Given the description of an element on the screen output the (x, y) to click on. 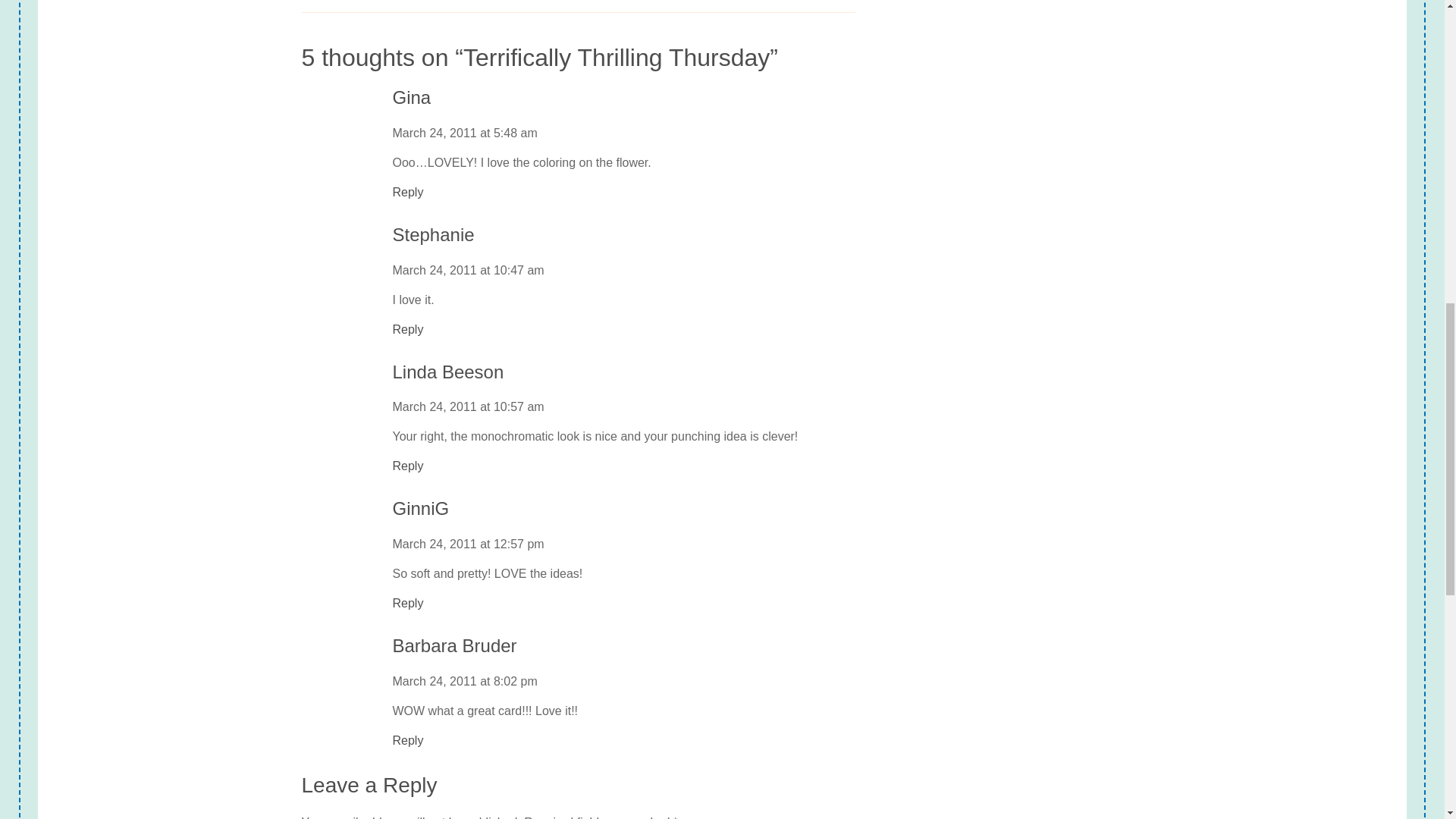
Barbara Bruder (454, 646)
Reply (408, 330)
Reply (408, 603)
Gina (411, 97)
Linda Beeson (448, 372)
Reply (408, 466)
Reply (408, 192)
GinniG (421, 508)
Reply (408, 741)
